Given the description of an element on the screen output the (x, y) to click on. 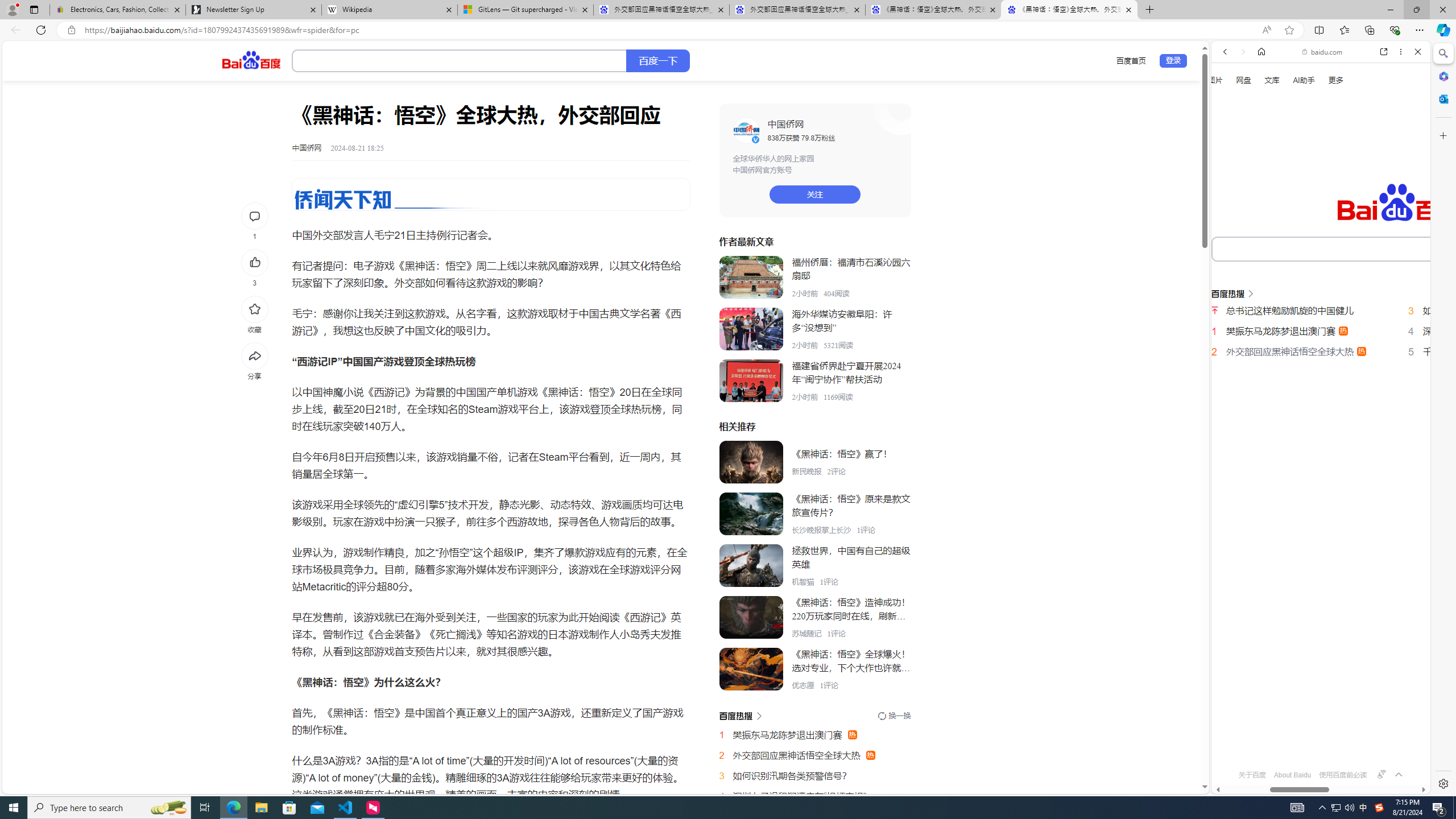
OF | English meaning - Cambridge Dictionary (1315, 238)
This site scope (1259, 102)
Actions for this site (1381, 514)
